Given the description of an element on the screen output the (x, y) to click on. 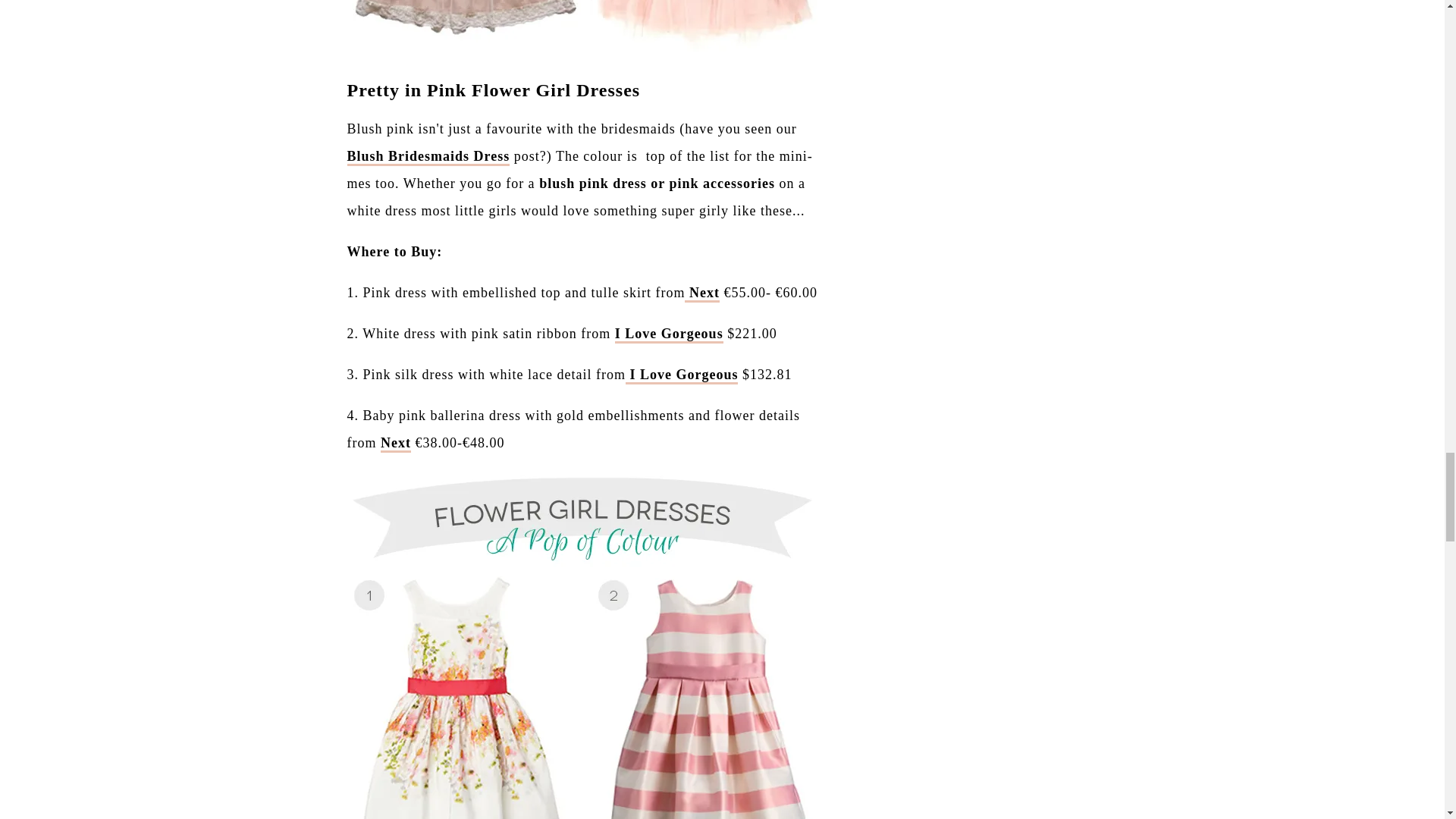
pink silk dress (682, 375)
Pink flowergirl dress (701, 293)
blush bridesmaids (429, 157)
white dress with pink satin ribbon (668, 334)
